Given the description of an element on the screen output the (x, y) to click on. 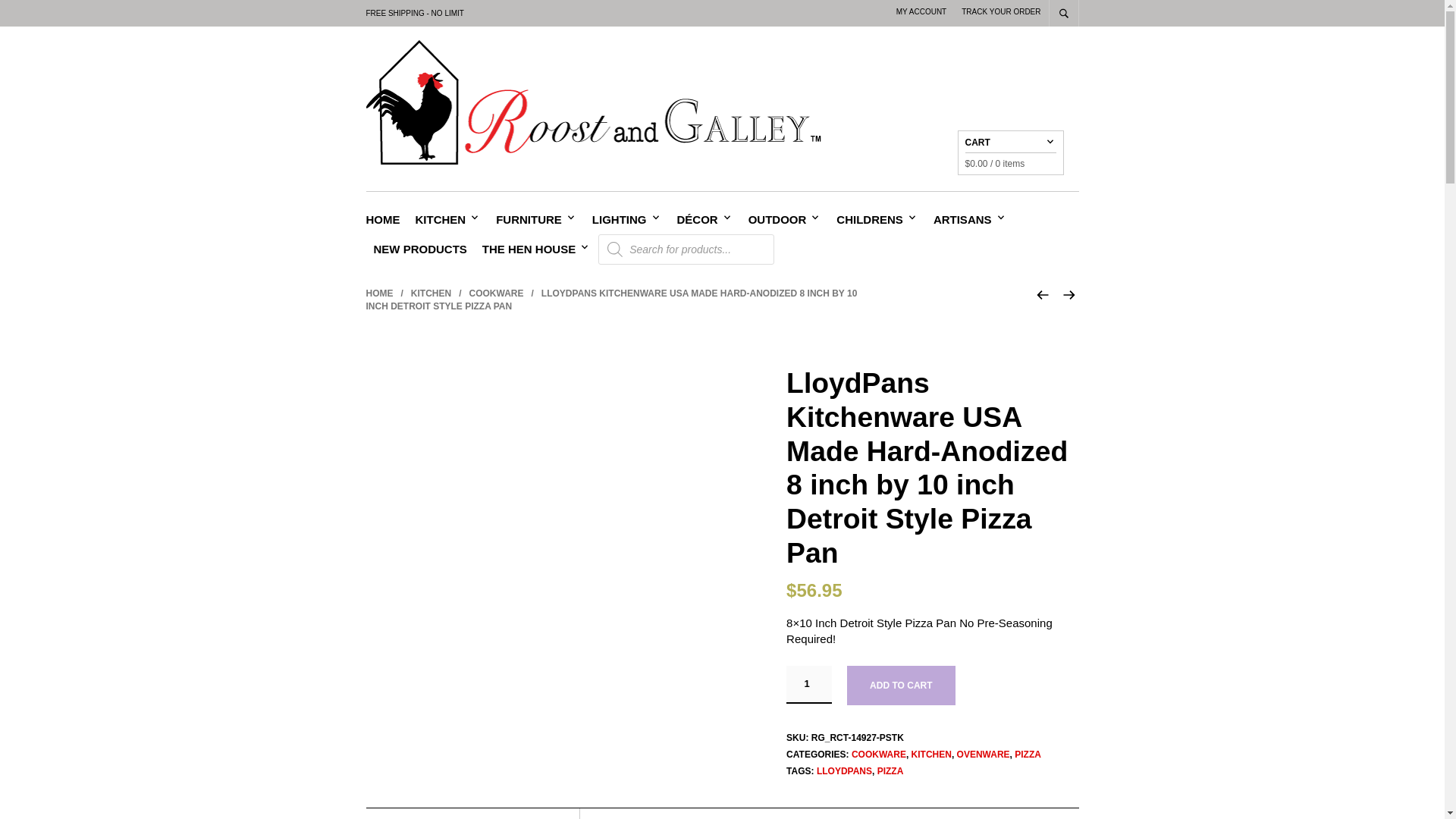
1 (808, 684)
KITCHEN (444, 219)
CHILDRENS (873, 219)
TRACK YOUR ORDER (1000, 11)
OUTDOOR (781, 219)
FURNITURE (531, 219)
MY ACCOUNT (921, 11)
HOME (386, 219)
LIGHTING (623, 219)
